Given the description of an element on the screen output the (x, y) to click on. 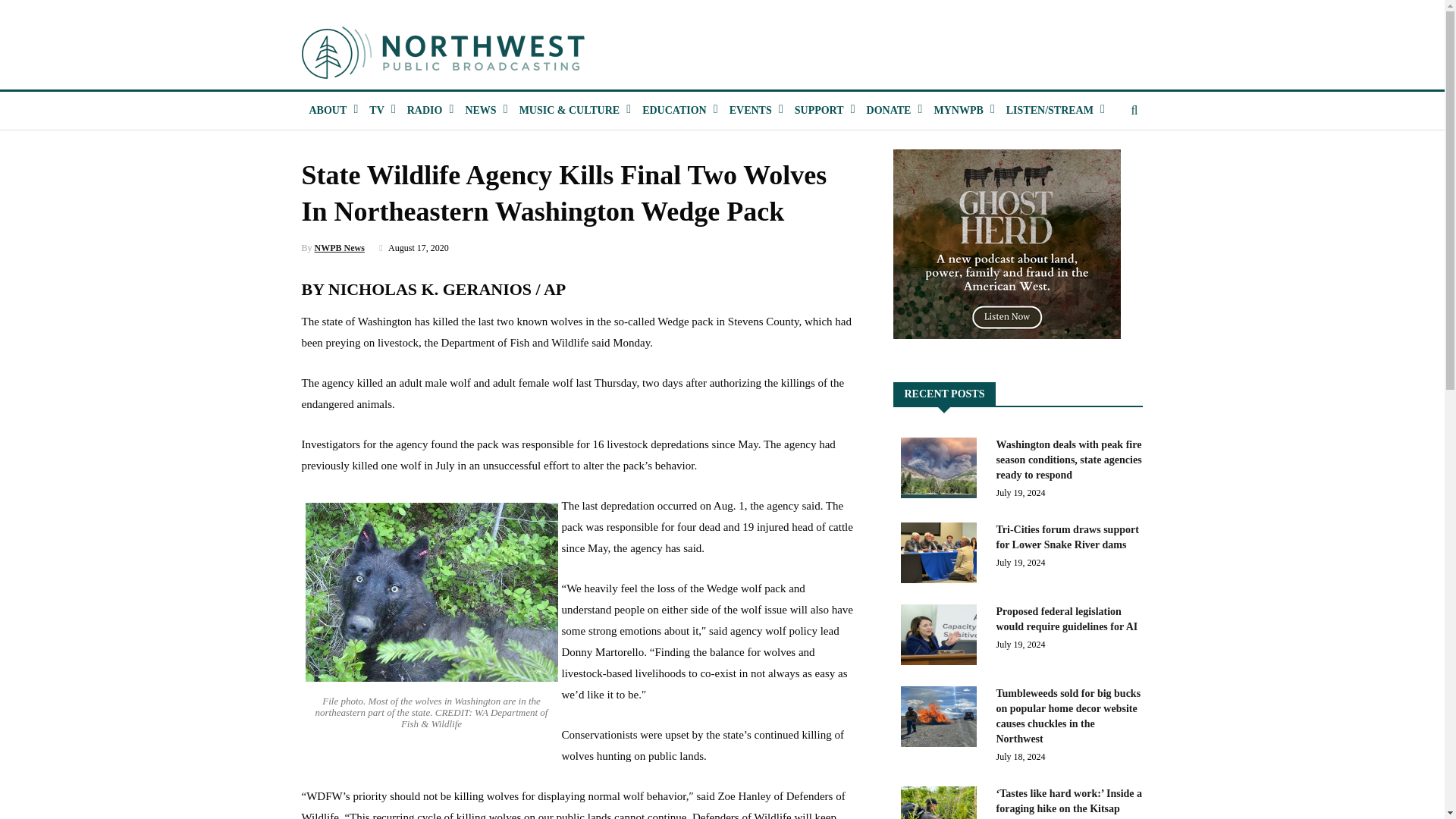
Donate Button (889, 110)
RADIO (425, 110)
logo (443, 52)
NEWS (479, 110)
TV (376, 110)
ABOUT (327, 110)
